Given the description of an element on the screen output the (x, y) to click on. 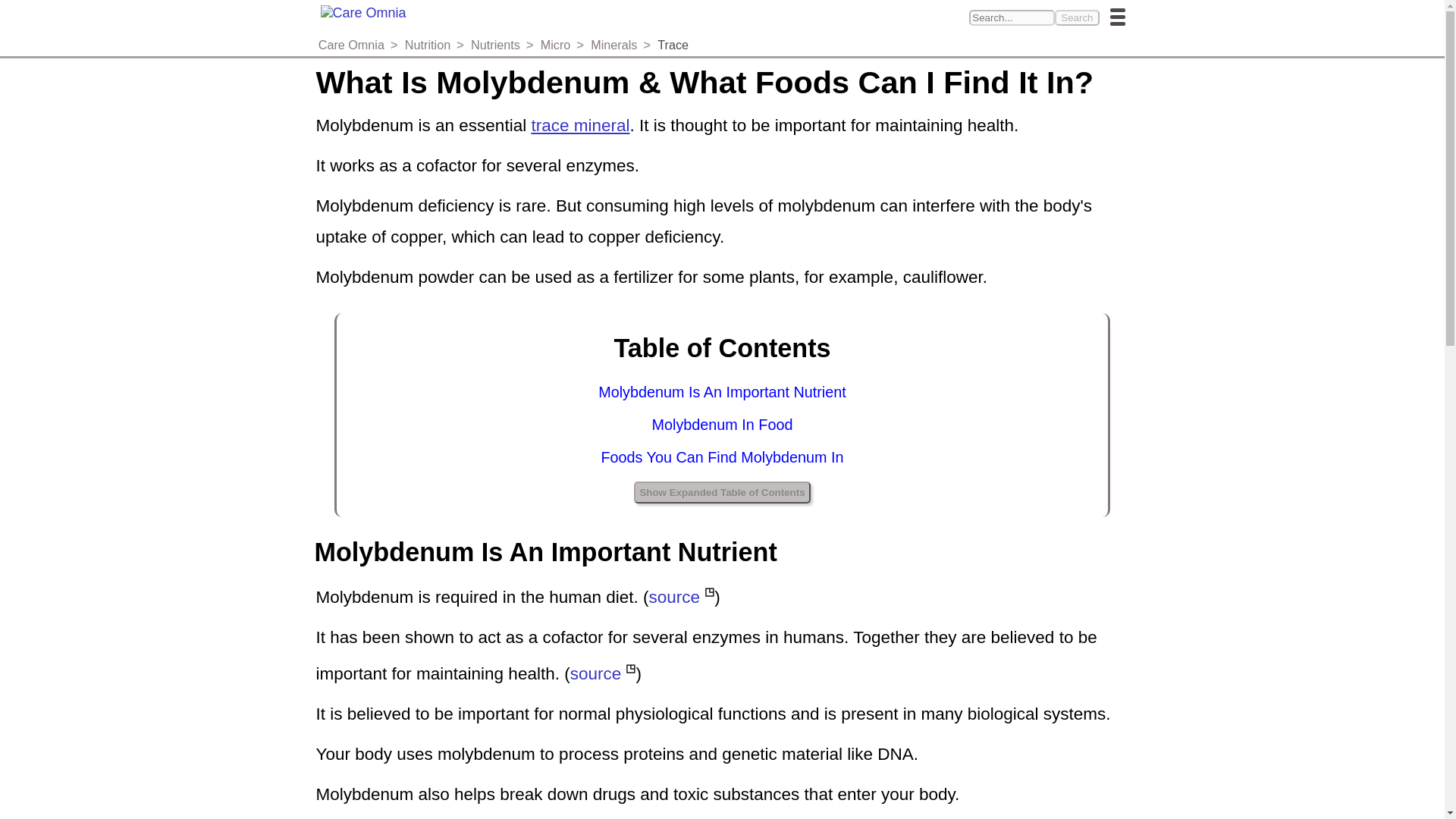
Care Omnia (351, 44)
Go to: Care Omnia (351, 44)
Jump to chapter: Molybdenum In Food (722, 424)
Go to: Nutrients (494, 44)
Search (1076, 17)
source (595, 673)
Go to: Micro (555, 44)
Search with minimum 3 characters (1011, 17)
trace mineral (579, 125)
Go to: Minerals (614, 44)
